Given the description of an element on the screen output the (x, y) to click on. 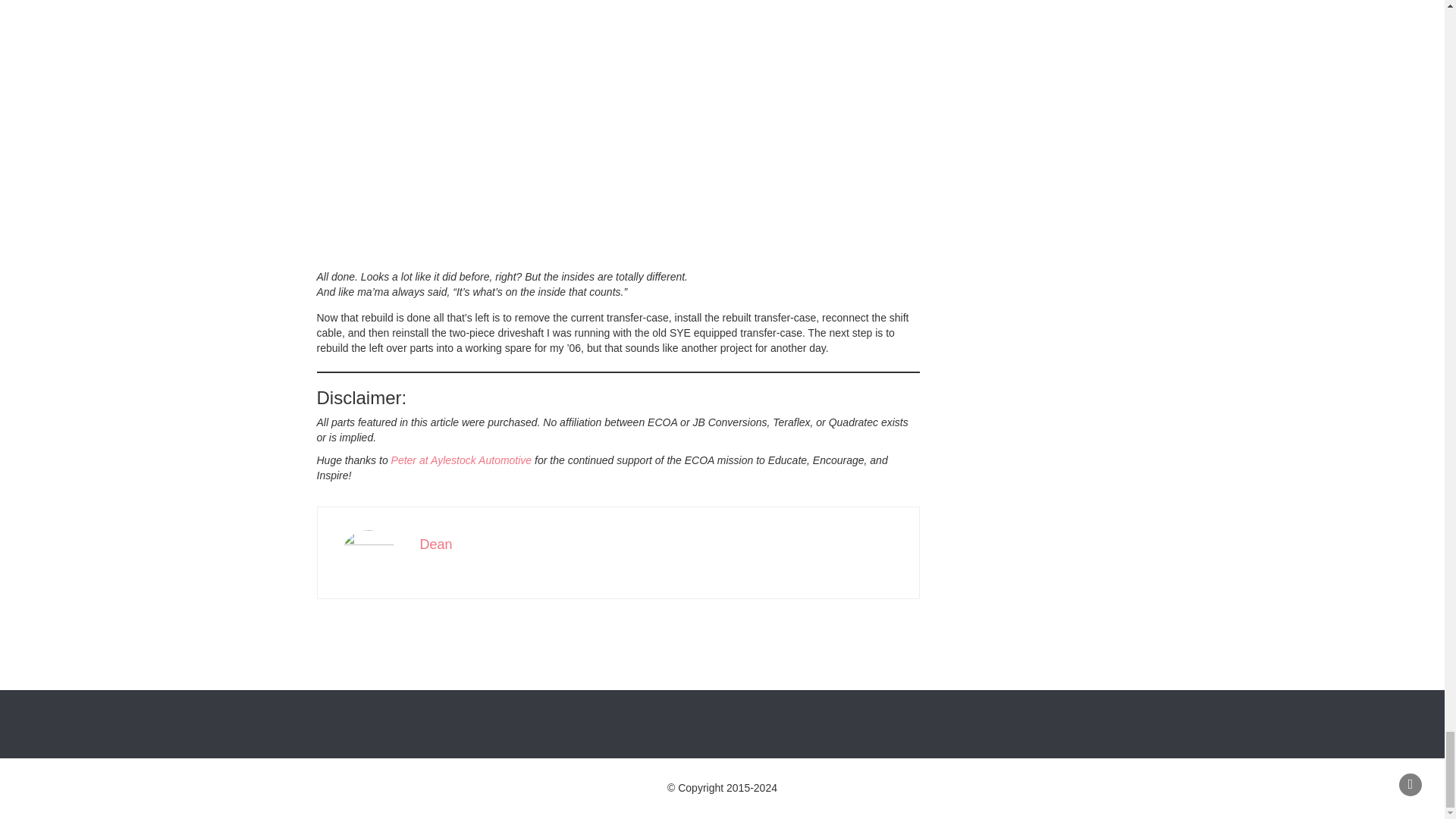
Dean (436, 544)
Peter at Aylestock Automotive (461, 460)
